Given the description of an element on the screen output the (x, y) to click on. 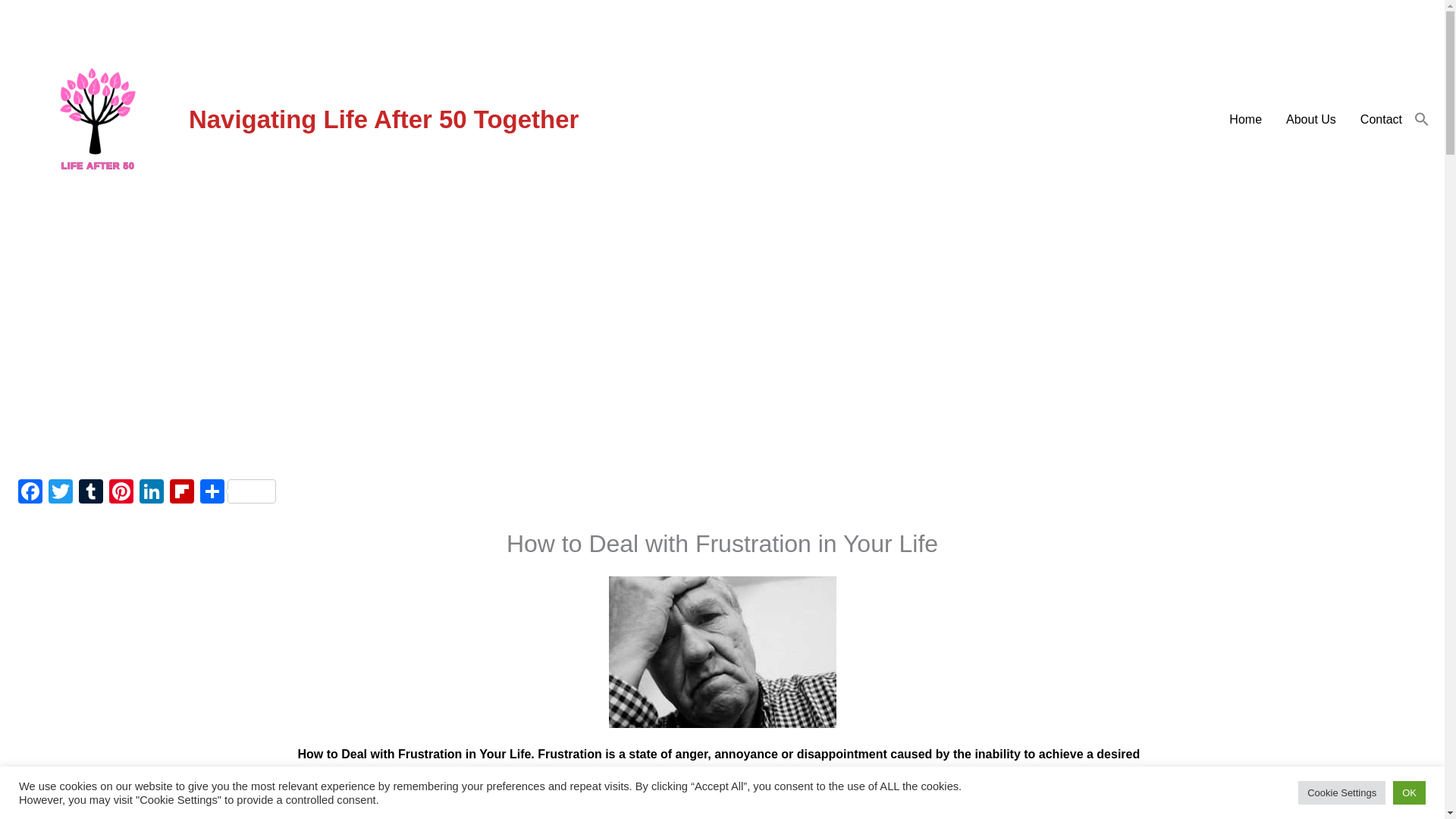
Flipboard (181, 492)
Contact (1380, 119)
OK (1409, 792)
About Us (1311, 119)
Pinterest (121, 492)
Pinterest (121, 492)
Home (1245, 119)
Twitter (60, 492)
Twitter (60, 492)
Tumblr (90, 492)
Facebook (29, 492)
LinkedIn (151, 492)
Tumblr (90, 492)
Cookie Settings (1342, 792)
